Given the description of an element on the screen output the (x, y) to click on. 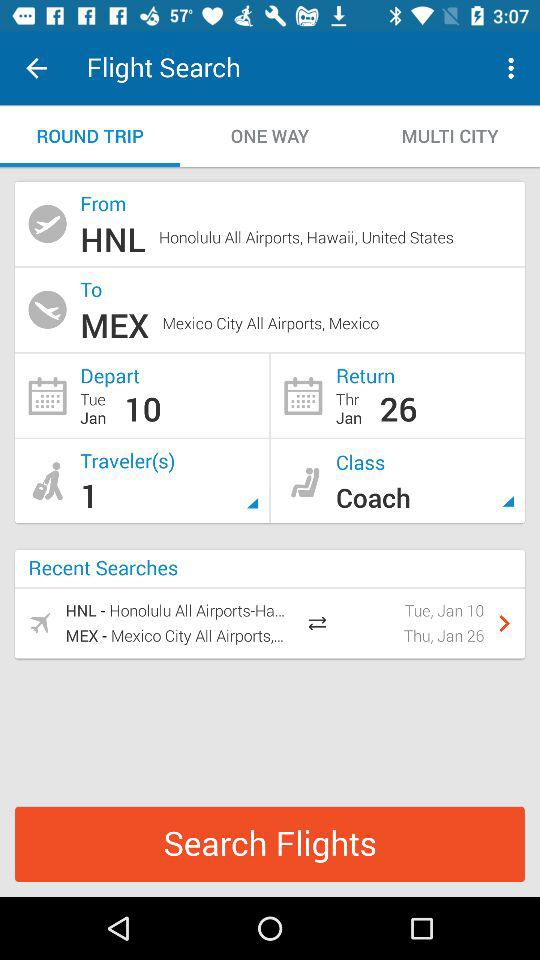
select the item next to the one way item (90, 136)
